Given the description of an element on the screen output the (x, y) to click on. 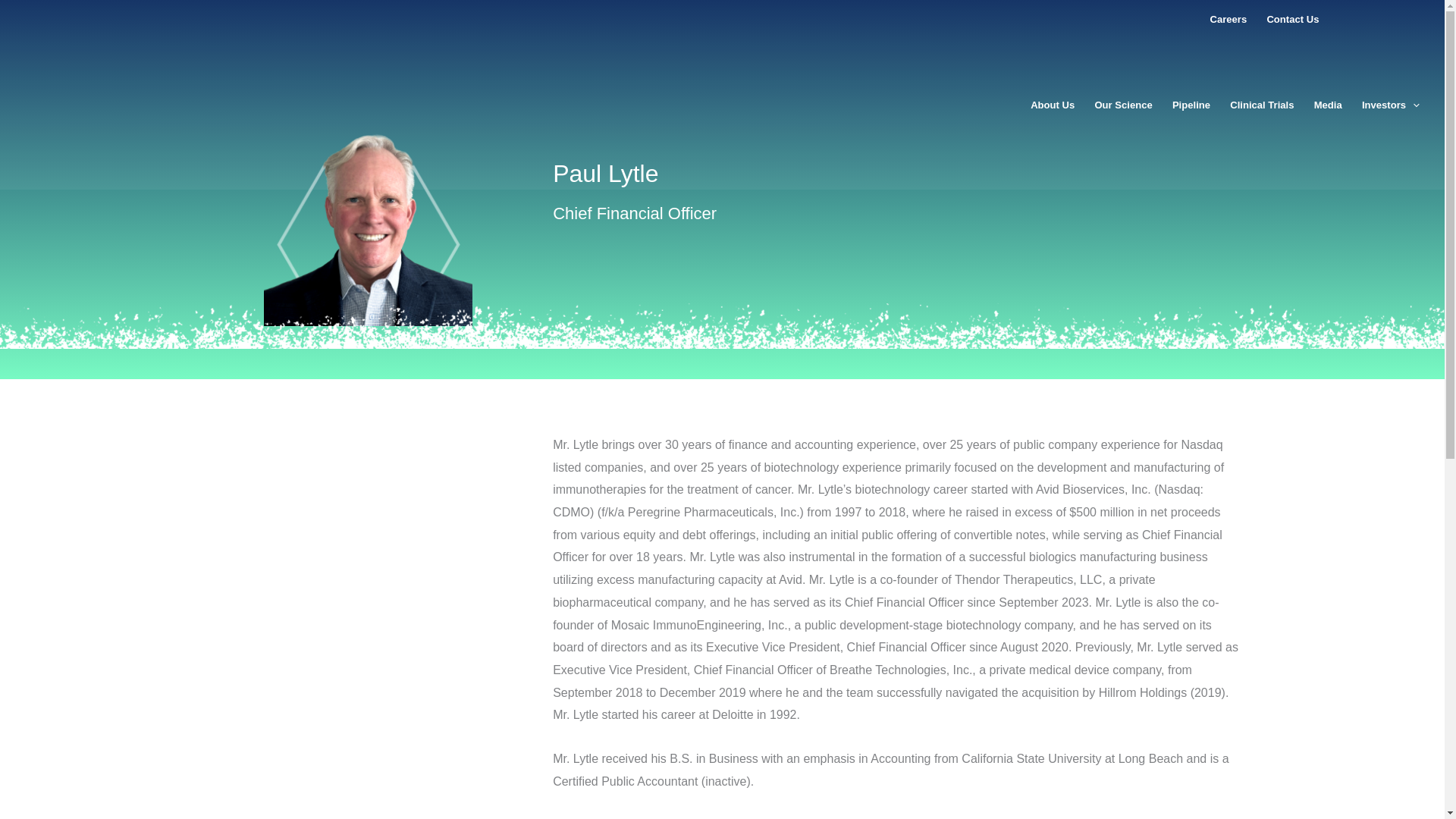
Pipeline (1190, 106)
About Us (1052, 106)
Our Science (1122, 106)
Careers (1227, 19)
Clinical Trials (1261, 106)
Media (1328, 106)
Contact Us (1291, 19)
Investors (1390, 106)
